Given the description of an element on the screen output the (x, y) to click on. 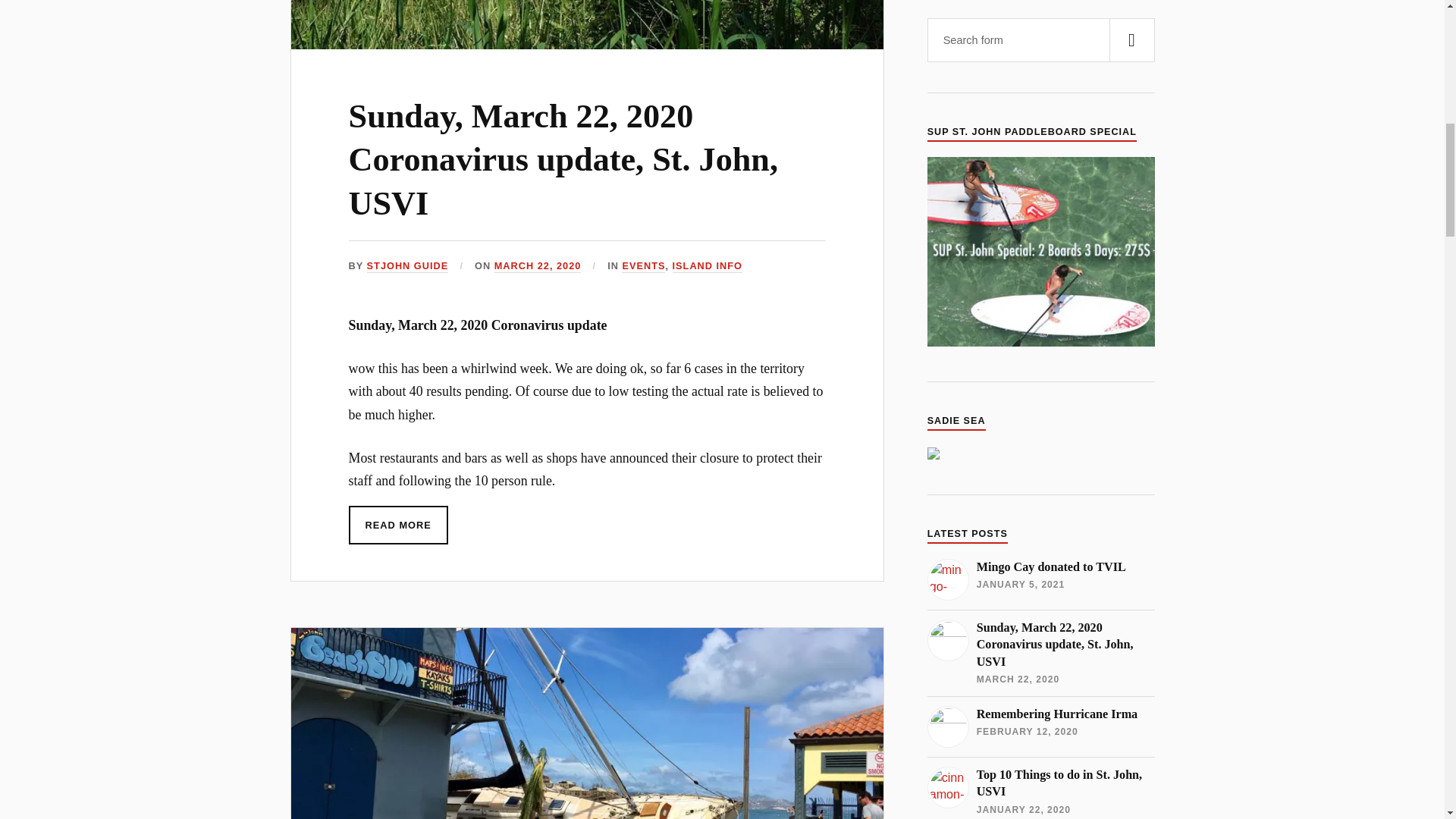
Posts by stjohn guide (407, 266)
